Given the description of an element on the screen output the (x, y) to click on. 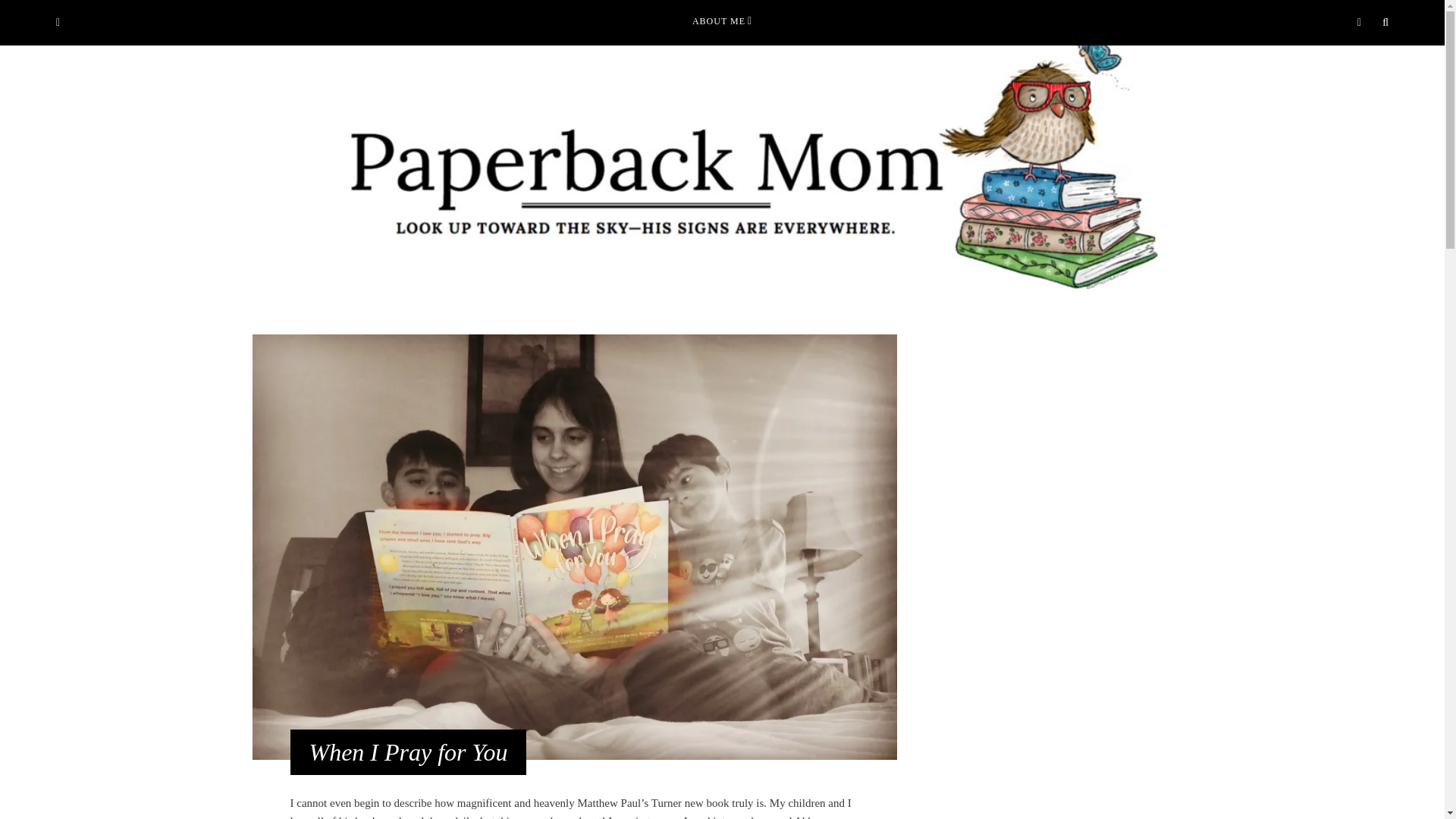
ABOUT ME (721, 21)
